Given the description of an element on the screen output the (x, y) to click on. 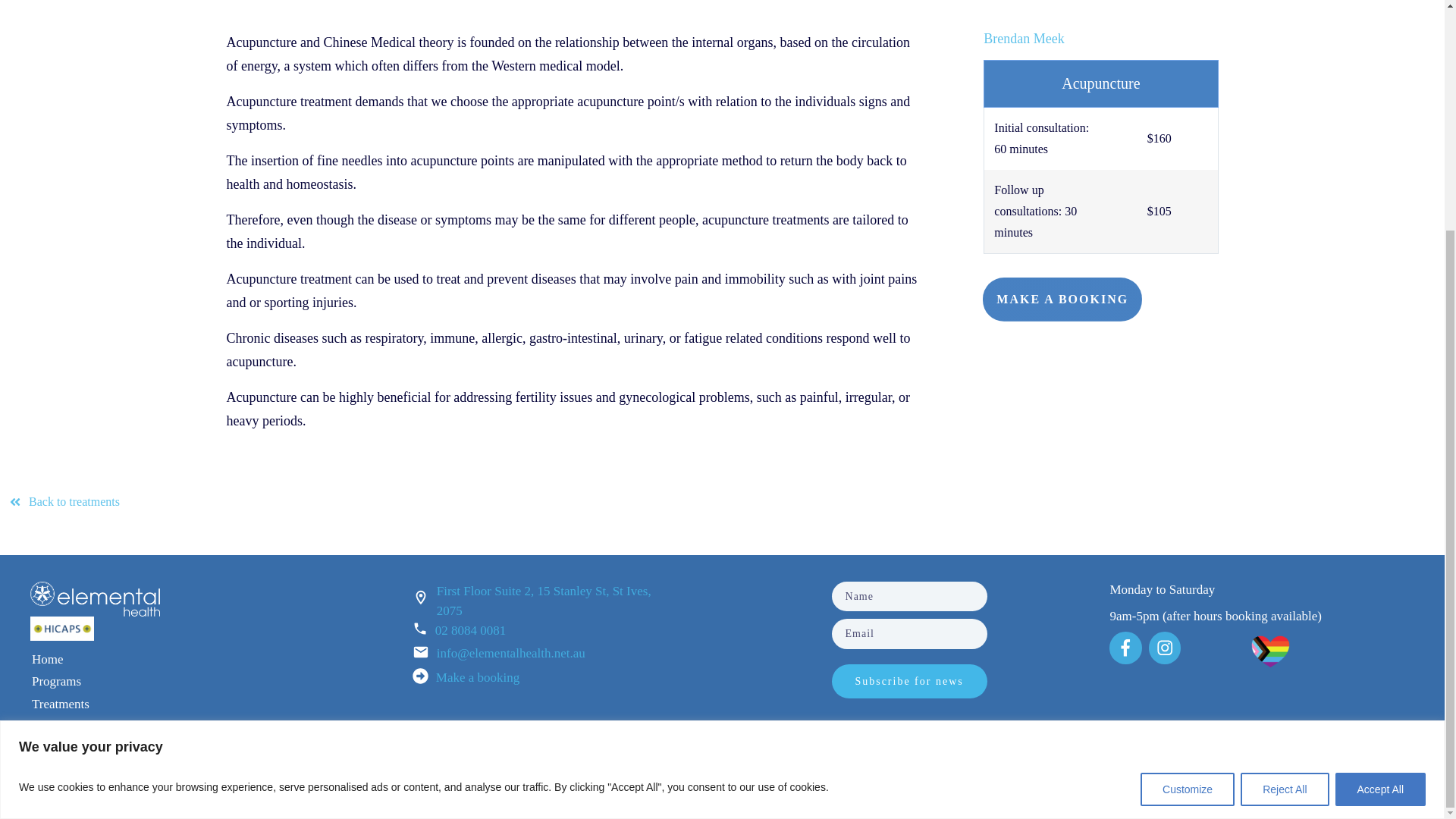
Reject All (1283, 476)
Customize (1187, 476)
Accept All (1380, 476)
Heart shaped progress pride flag (1270, 650)
Hicaps (62, 628)
Brendan Meek (1024, 38)
MAKE A BOOKING (1061, 299)
